Given the description of an element on the screen output the (x, y) to click on. 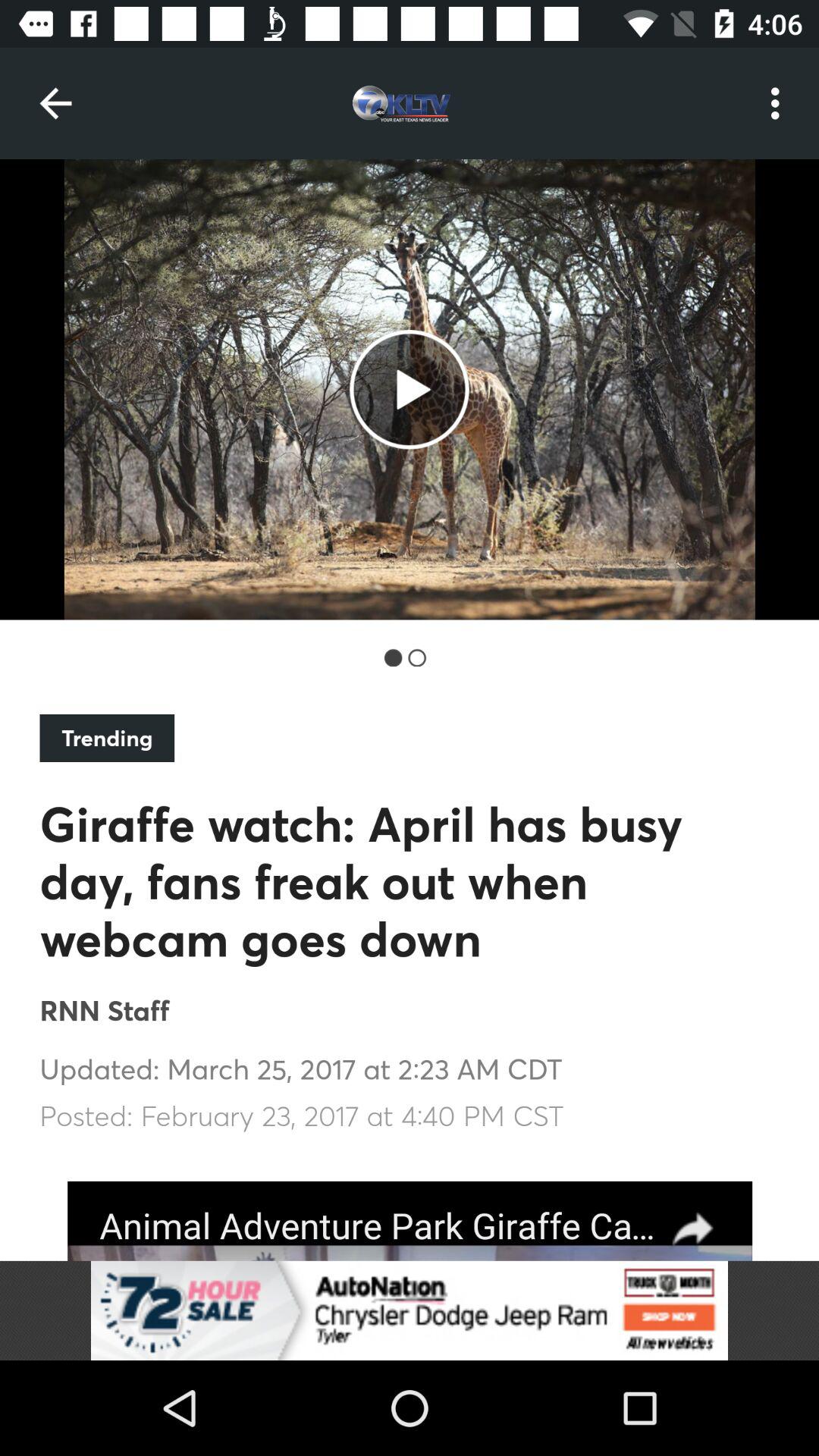
open advertisement (409, 1310)
